Given the description of an element on the screen output the (x, y) to click on. 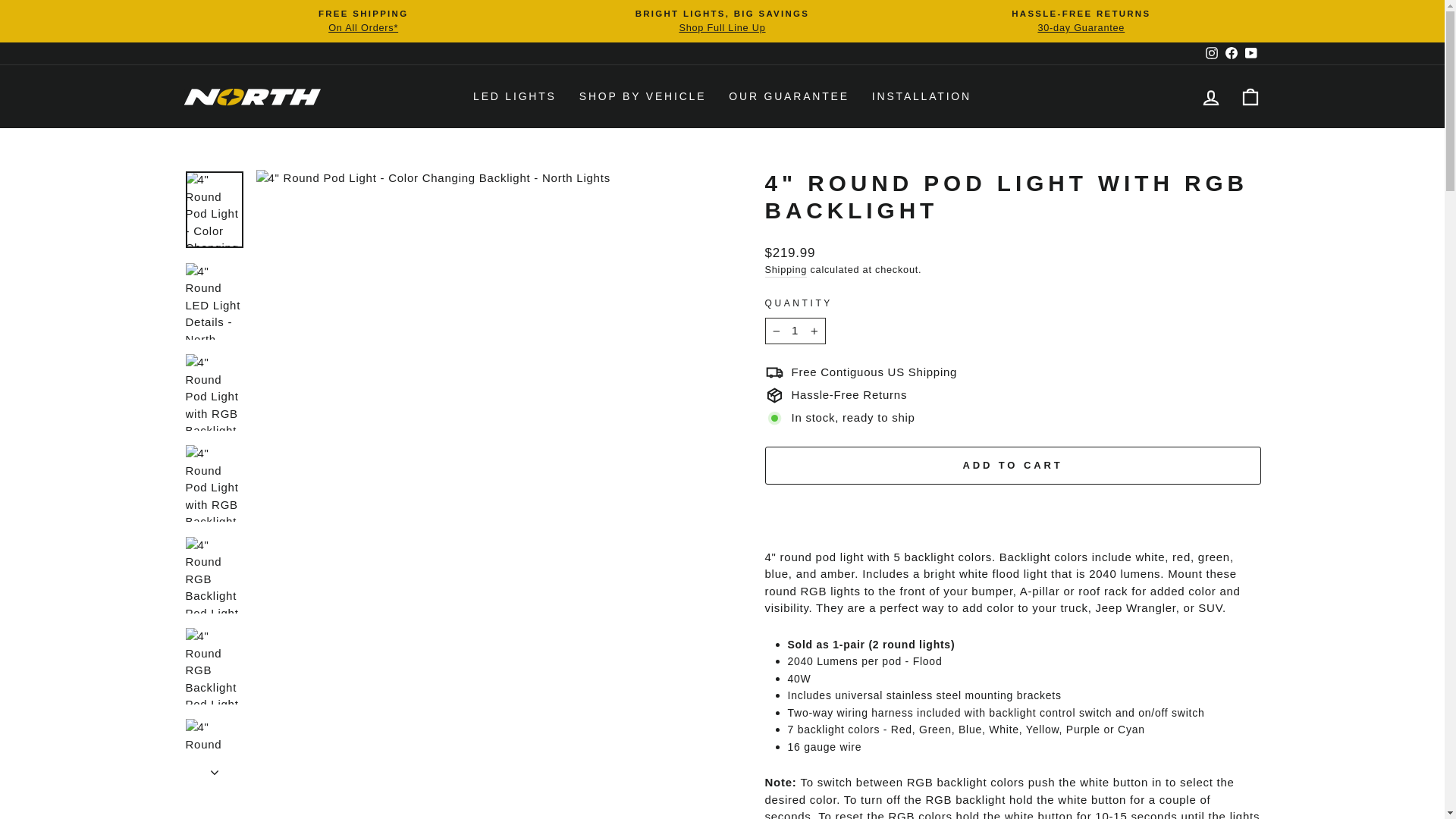
North Lights Co on YouTube (1250, 53)
North Lights Co on Facebook (1230, 53)
North Lights Co on Instagram (1211, 53)
1 (794, 330)
